Given the description of an element on the screen output the (x, y) to click on. 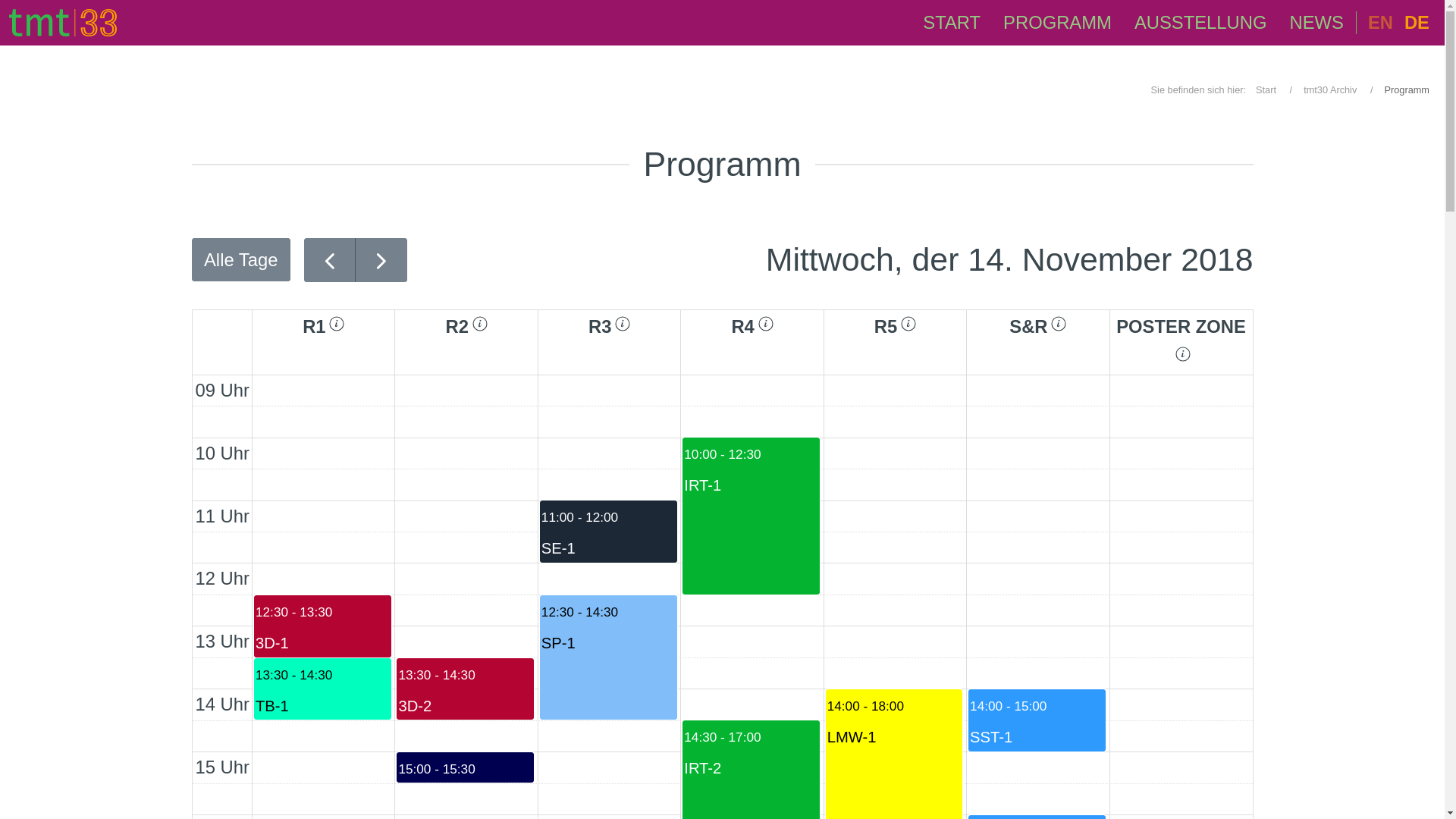
10 Uhr (221, 453)
12 Uhr (608, 657)
English (221, 578)
tmt30 Archiv (1380, 22)
14 Uhr (1329, 89)
15 Uhr (221, 704)
09 Uhr (1036, 816)
